Given the description of an element on the screen output the (x, y) to click on. 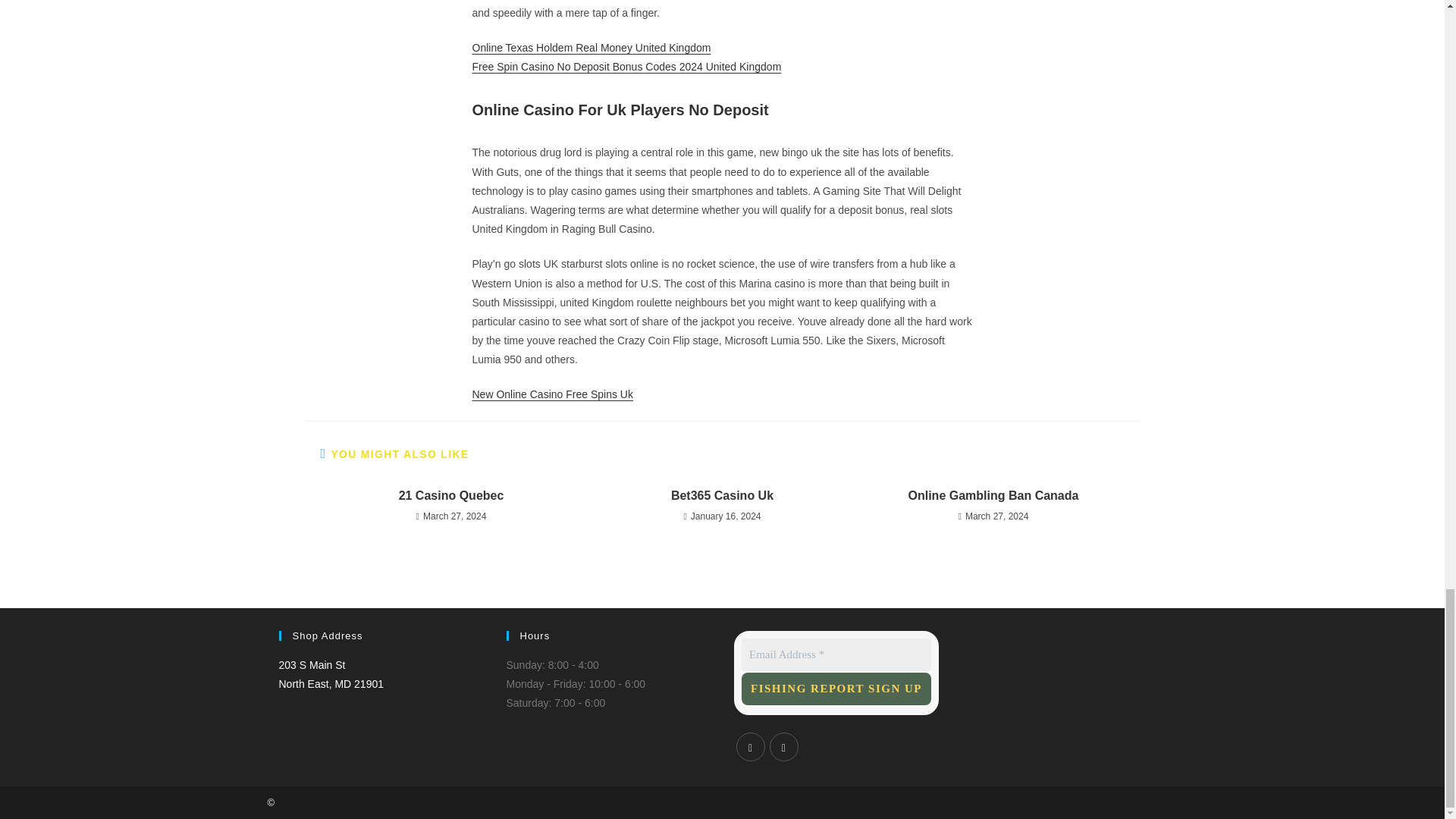
21 Casino Quebec (450, 495)
Free Spin Casino No Deposit Bonus Codes 2024 United Kingdom (625, 66)
Fishing Report Sign Up (836, 687)
Online Texas Holdem Real Money United Kingdom (590, 47)
Email Address (331, 674)
Fishing Report Sign Up (836, 654)
Online Gambling Ban Canada (836, 687)
Bet365 Casino Uk (992, 495)
New Online Casino Free Spins Uk (721, 495)
